Given the description of an element on the screen output the (x, y) to click on. 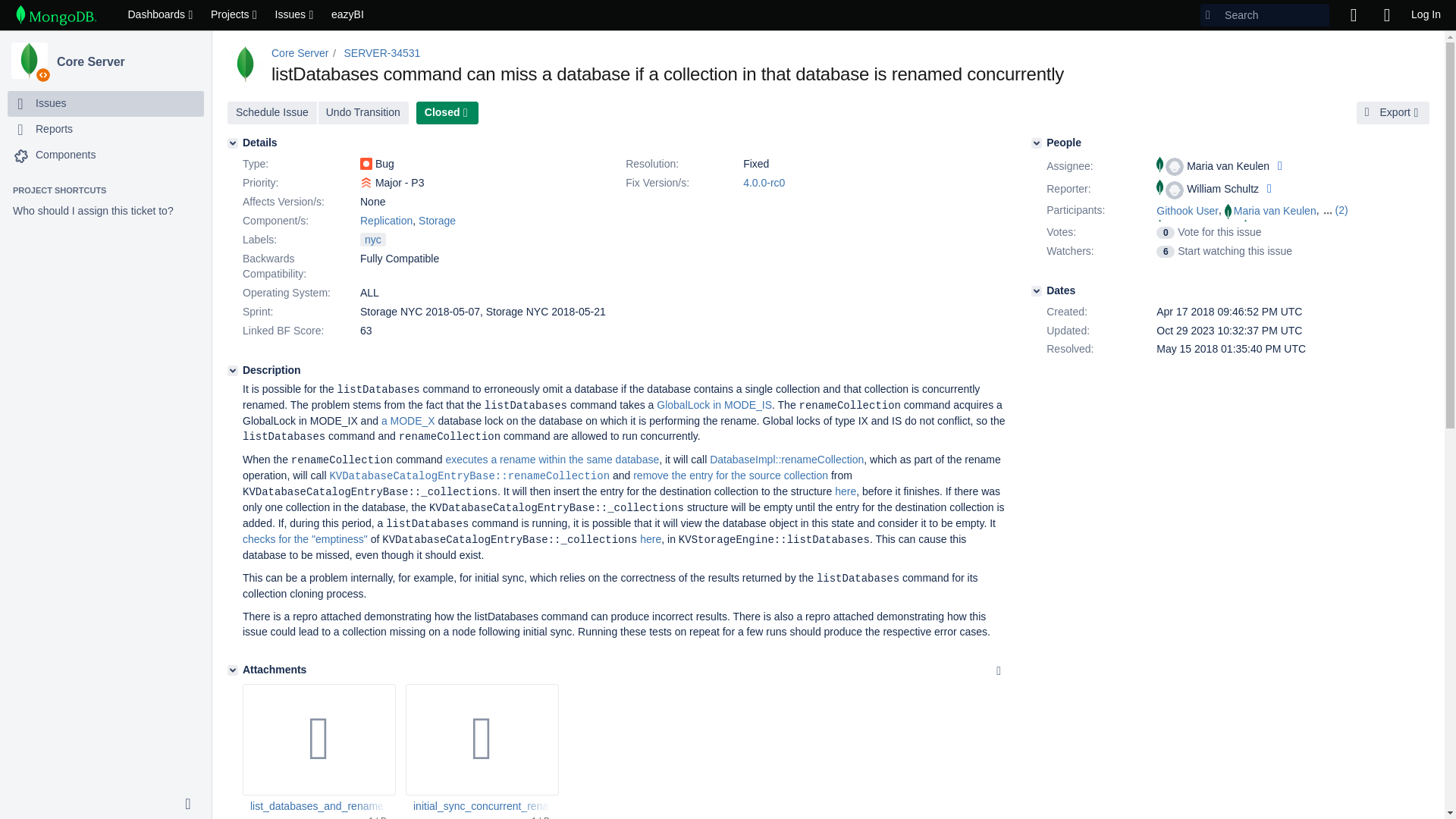
eazyBI (347, 15)
Projects (235, 15)
4.0.0-rc0 (763, 182)
Help (1386, 15)
Issues (105, 103)
Reports (53, 129)
Undo Transition (363, 112)
4.0.0-rc0 Release Candidate (763, 182)
nyc (372, 239)
Issues (295, 15)
Components (65, 155)
Core Server (29, 60)
Who should I assign this ticket to? (105, 211)
Log In (1425, 15)
View and manage your dashboards (161, 15)
